Given the description of an element on the screen output the (x, y) to click on. 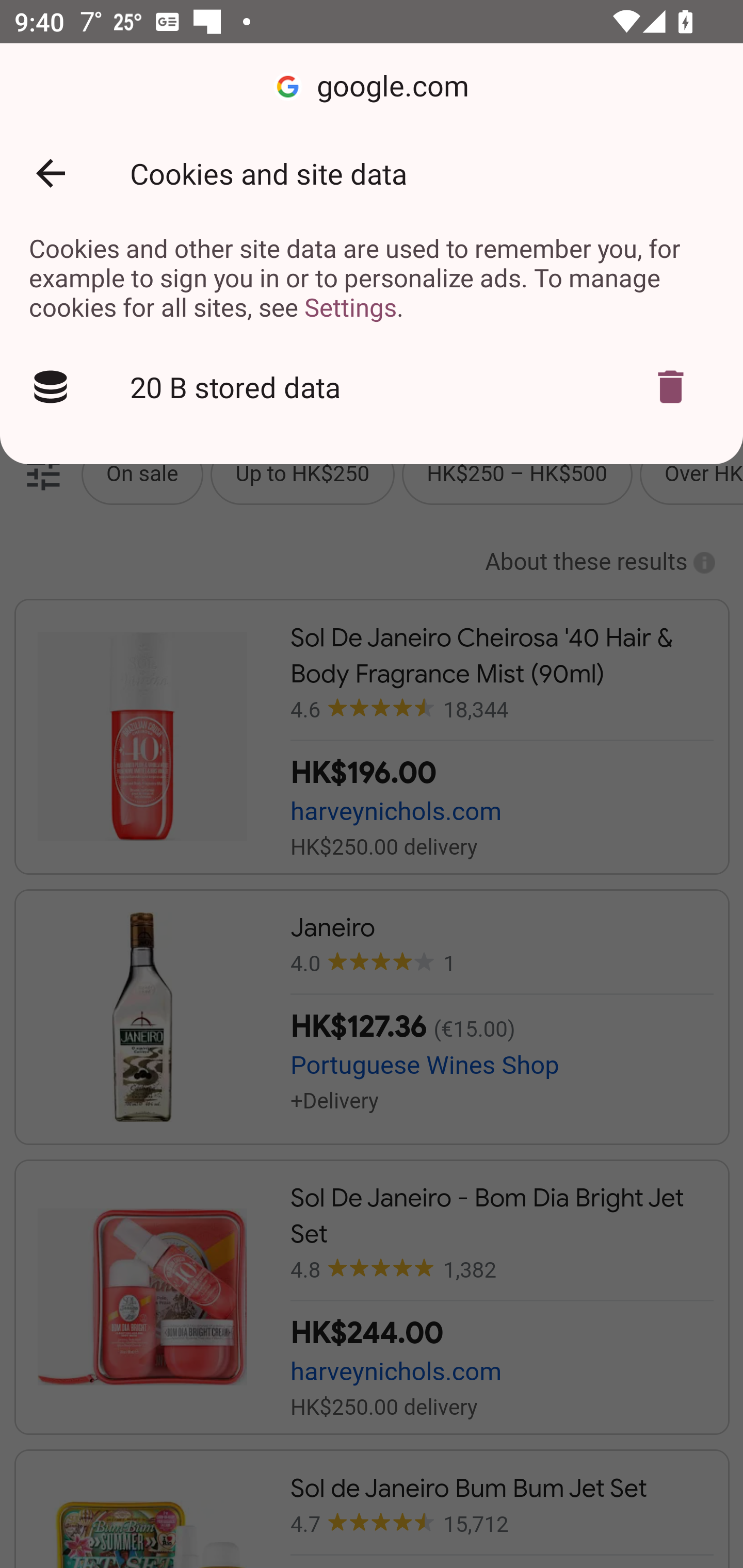
google.com (371, 86)
Back (50, 173)
20 B stored data Delete cookies? (371, 386)
